Given the description of an element on the screen output the (x, y) to click on. 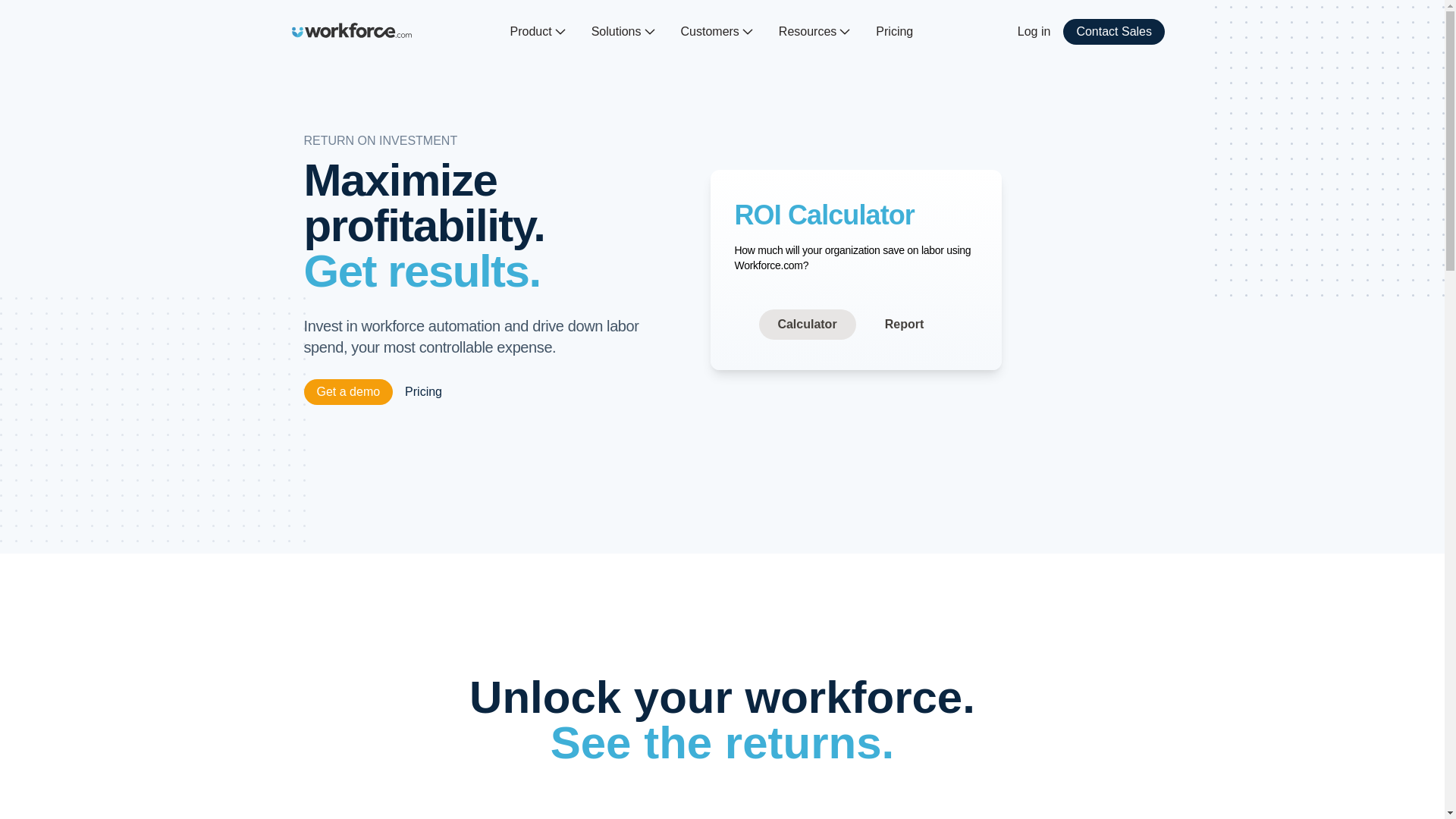
Product (539, 31)
Solutions (623, 31)
Workforce.com (351, 29)
